Given the description of an element on the screen output the (x, y) to click on. 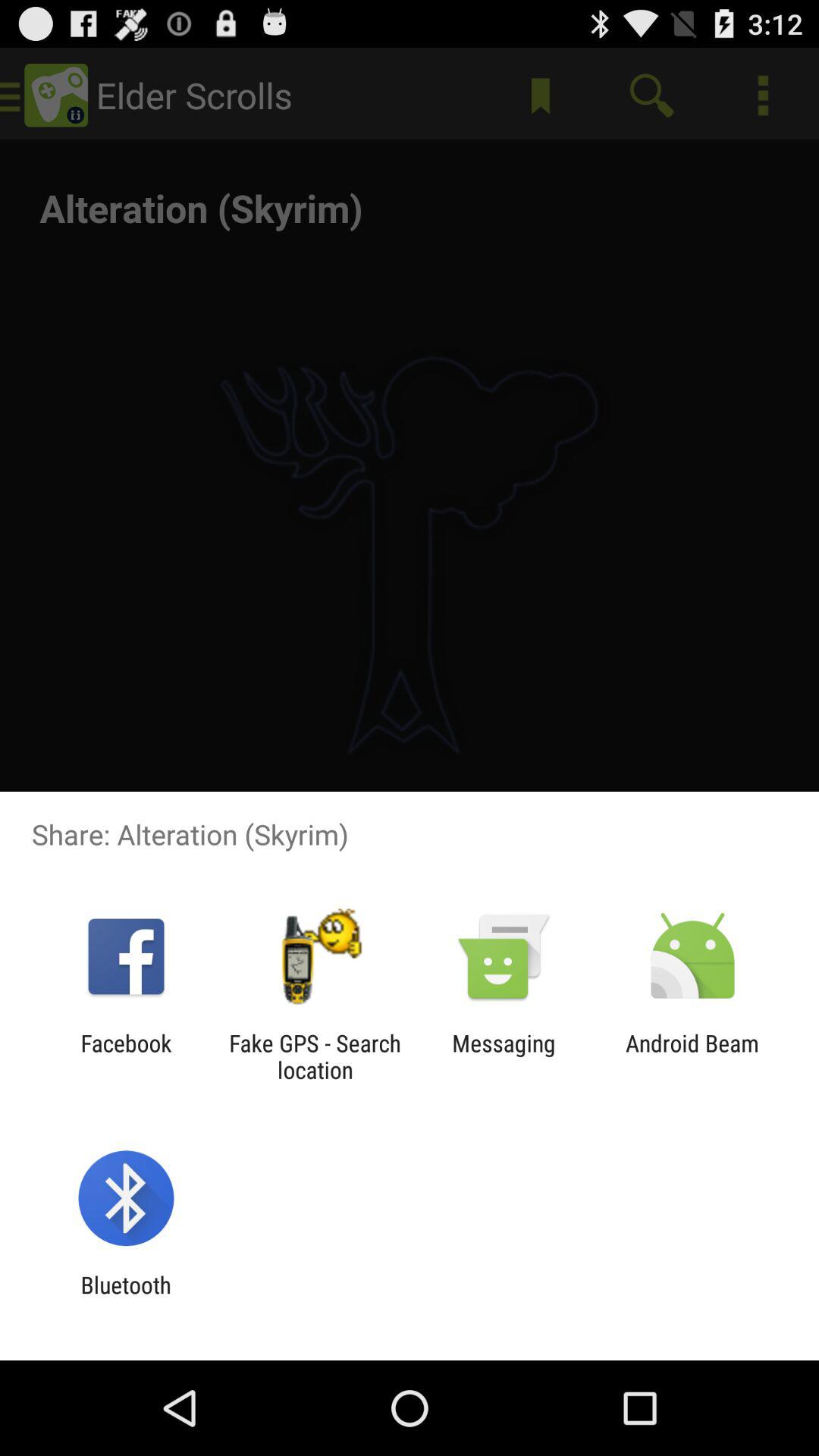
tap app next to the fake gps search (125, 1056)
